Given the description of an element on the screen output the (x, y) to click on. 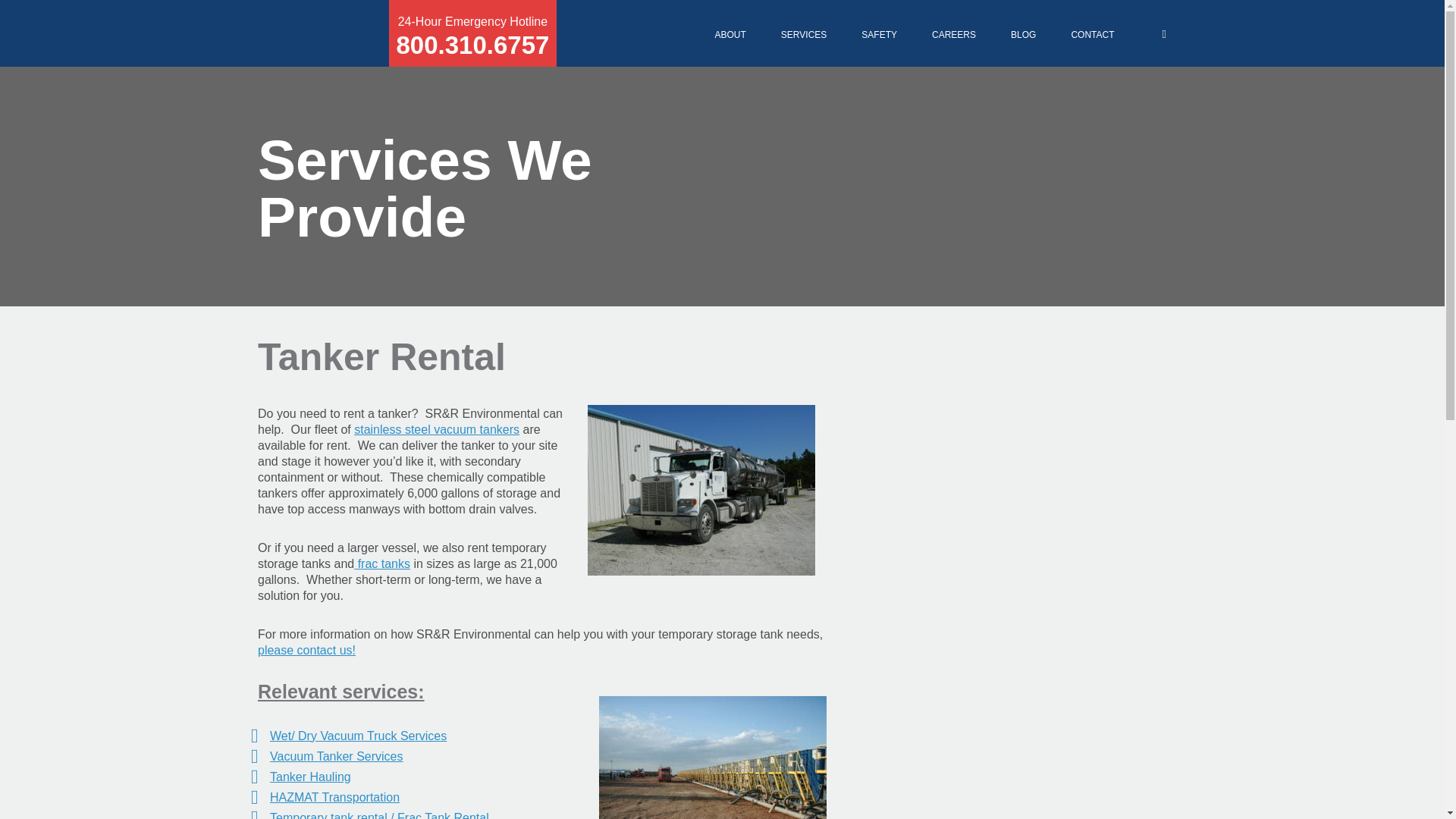
Logo (308, 32)
ABOUT (729, 33)
CAREERS (953, 33)
SAFETY (879, 33)
BLOG (1022, 33)
frac tanks (381, 563)
Vacuum Tanker Services (472, 33)
please contact us! (336, 756)
HAZMAT Transportation (306, 649)
stainless steel vacuum tankers (333, 797)
SERVICES (436, 429)
CONTACT (803, 33)
Tanker Hauling (1091, 33)
